Given the description of an element on the screen output the (x, y) to click on. 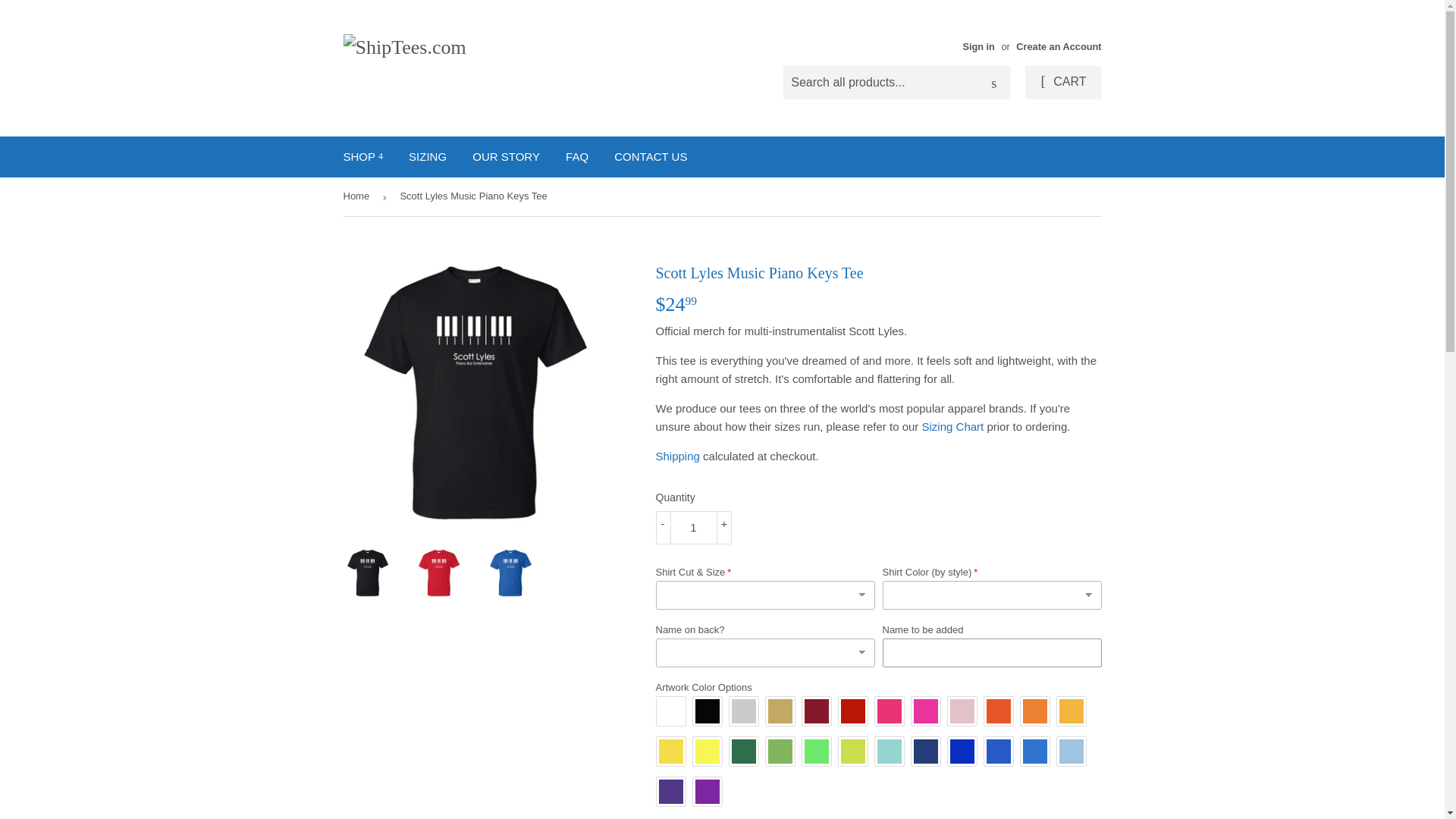
CART (1062, 82)
1 (692, 527)
Sign in (978, 46)
Create an Account (1058, 46)
SHOP (362, 156)
Sizing Chart (952, 426)
Search (993, 83)
